Given the description of an element on the screen output the (x, y) to click on. 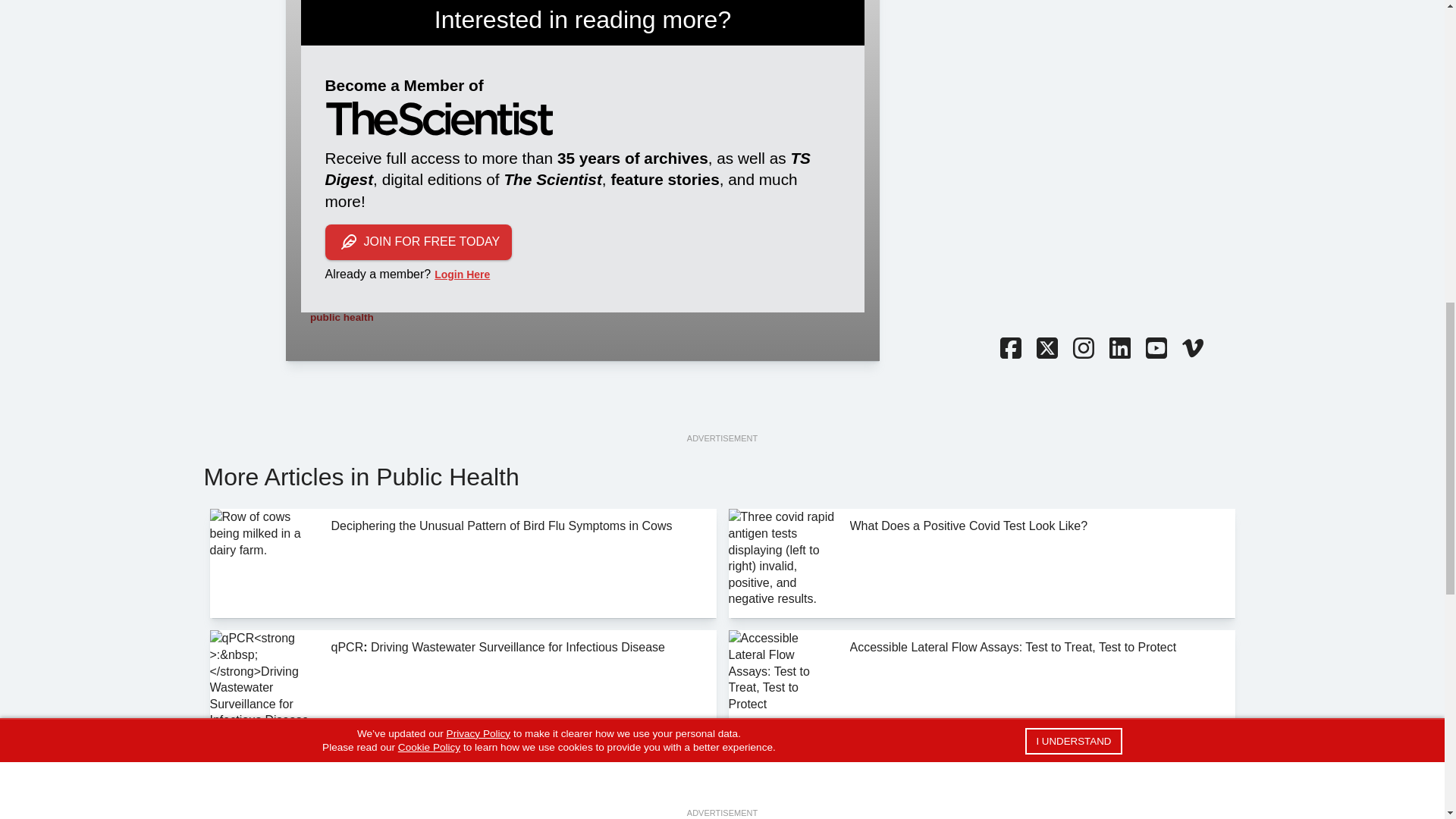
Twitter (1045, 349)
LinkedIn (1118, 349)
Row of cows being milked in a dairy farm. (263, 563)
Facebook (1009, 349)
YouTube (1155, 349)
Instagram (1082, 349)
Vimeo (1191, 349)
